Given the description of an element on the screen output the (x, y) to click on. 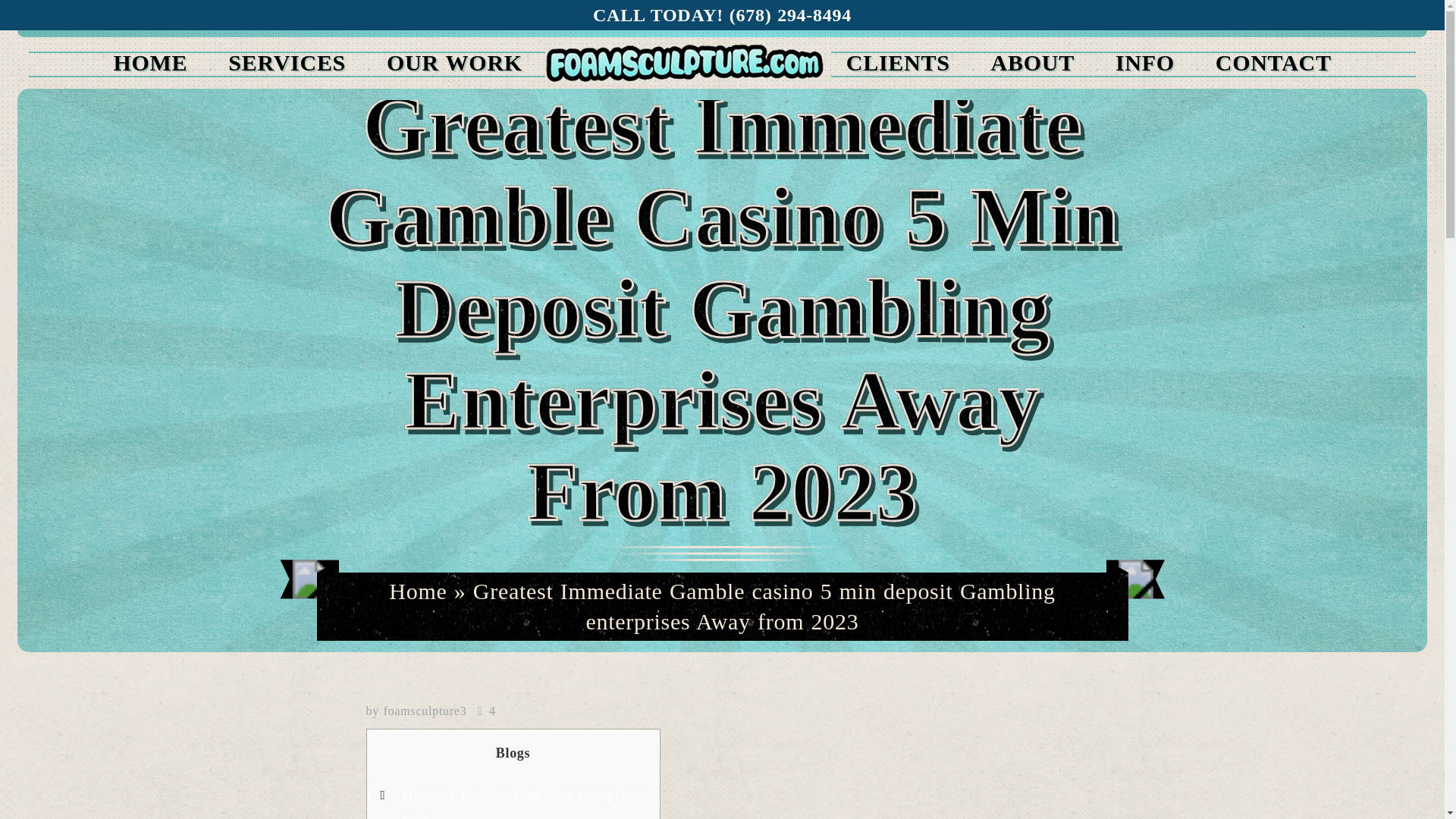
Like (486, 711)
Posts by foamsculpture3 (425, 711)
